Given the description of an element on the screen output the (x, y) to click on. 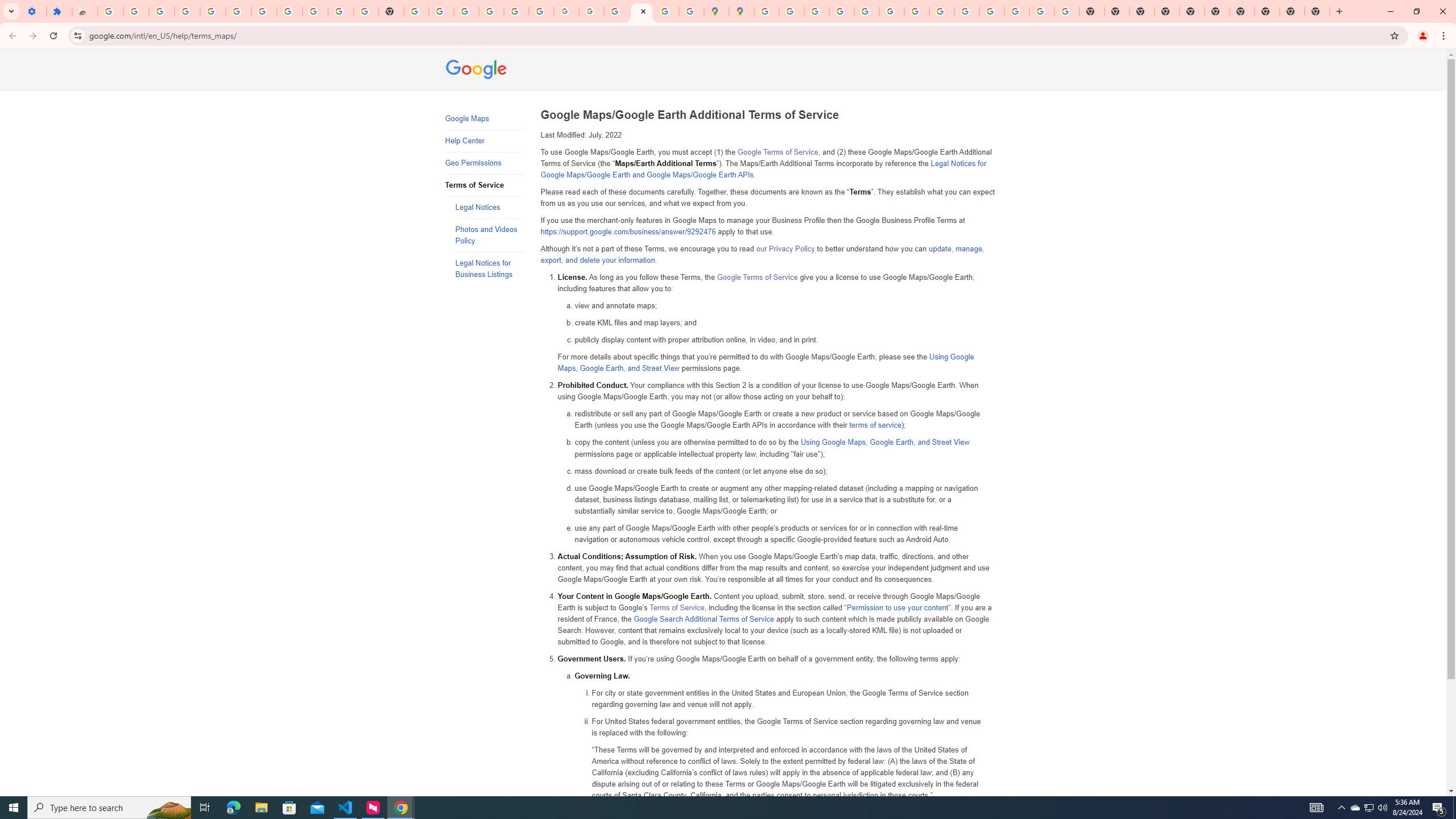
Address and search bar (735, 35)
YouTube (340, 11)
Close (642, 11)
Google Images (1066, 11)
New Tab (1166, 11)
Legal Notices (489, 207)
Sign in - Google Accounts (491, 11)
New Tab (1317, 11)
New Tab (1338, 11)
Legal Notices for Business Listings (489, 268)
Google Search Additional Terms of Service (703, 618)
